Given the description of an element on the screen output the (x, y) to click on. 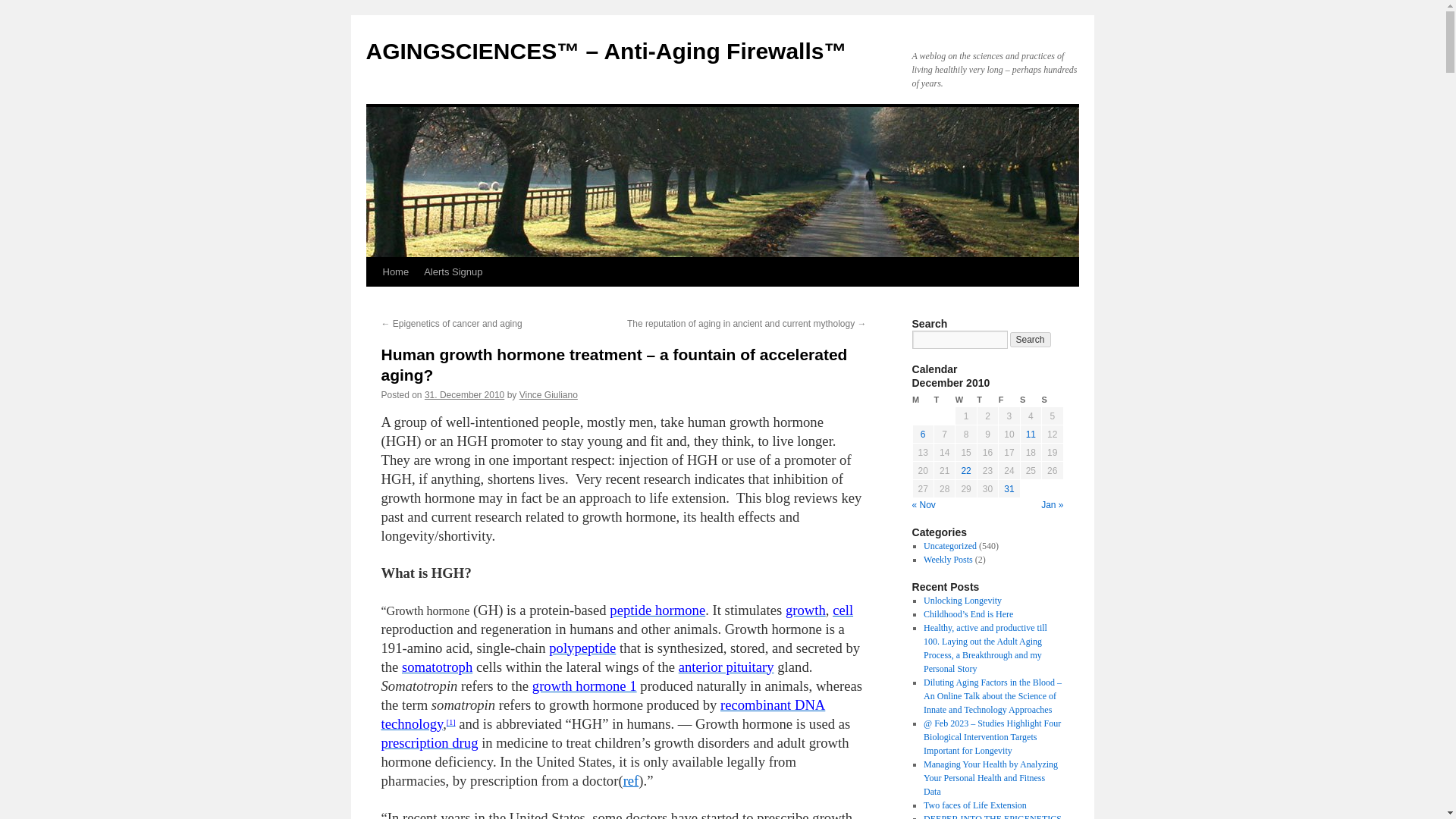
Search (1030, 339)
Wednesday (965, 400)
Polypeptide (581, 647)
31. December 2010 (464, 394)
growth hormone 1 (584, 685)
Recombinant DNA technology (602, 714)
Alerts Signup (452, 271)
prescription drug (428, 742)
Somatotroph (436, 666)
peptide hormone (657, 609)
View all posts by Vince Giuliano (548, 394)
anterior pituitary (726, 666)
growth (805, 609)
Monday (922, 400)
Peptide hormone (657, 609)
